Given the description of an element on the screen output the (x, y) to click on. 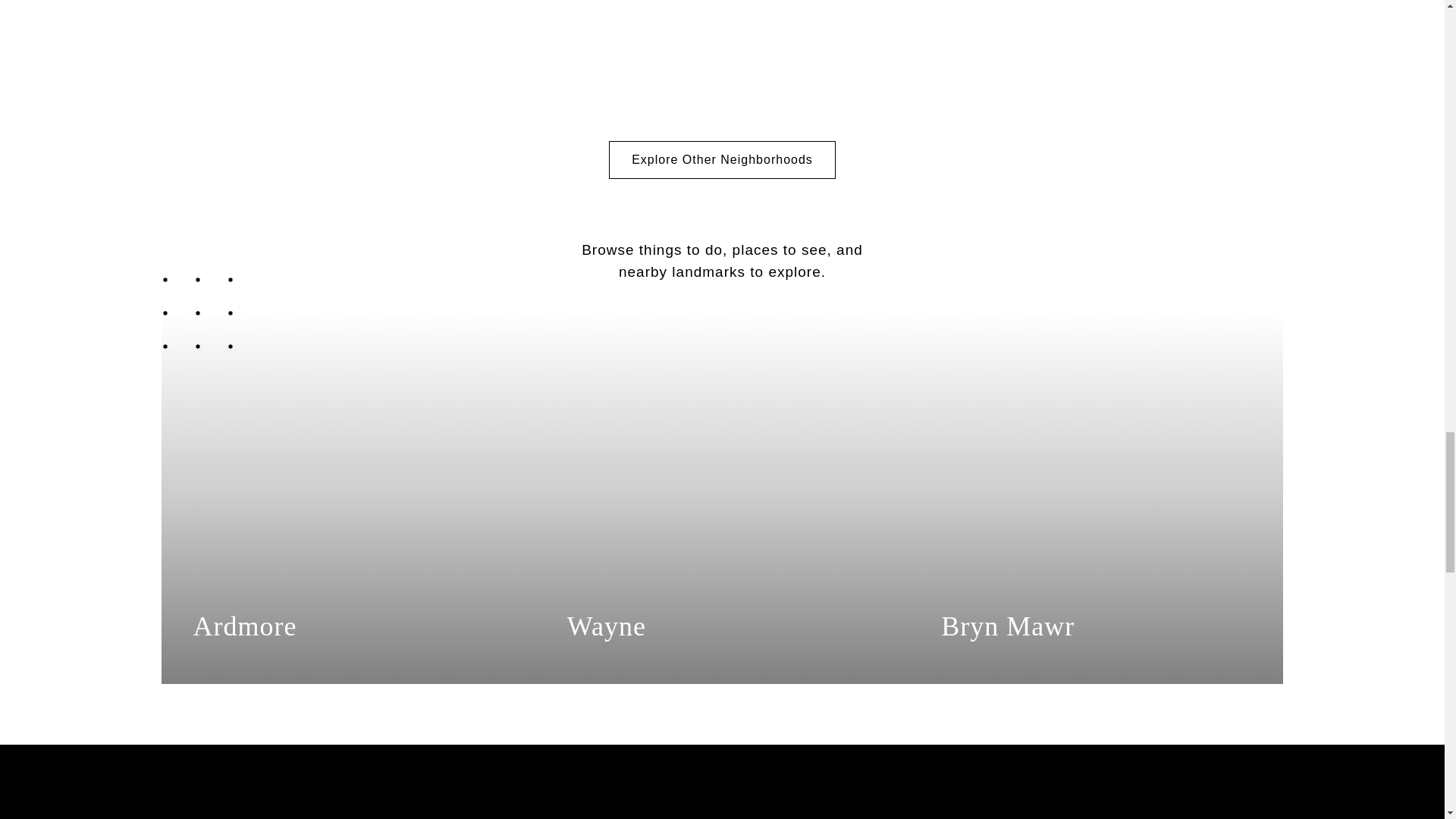
Explore Other Neighborhoods (721, 159)
